Given the description of an element on the screen output the (x, y) to click on. 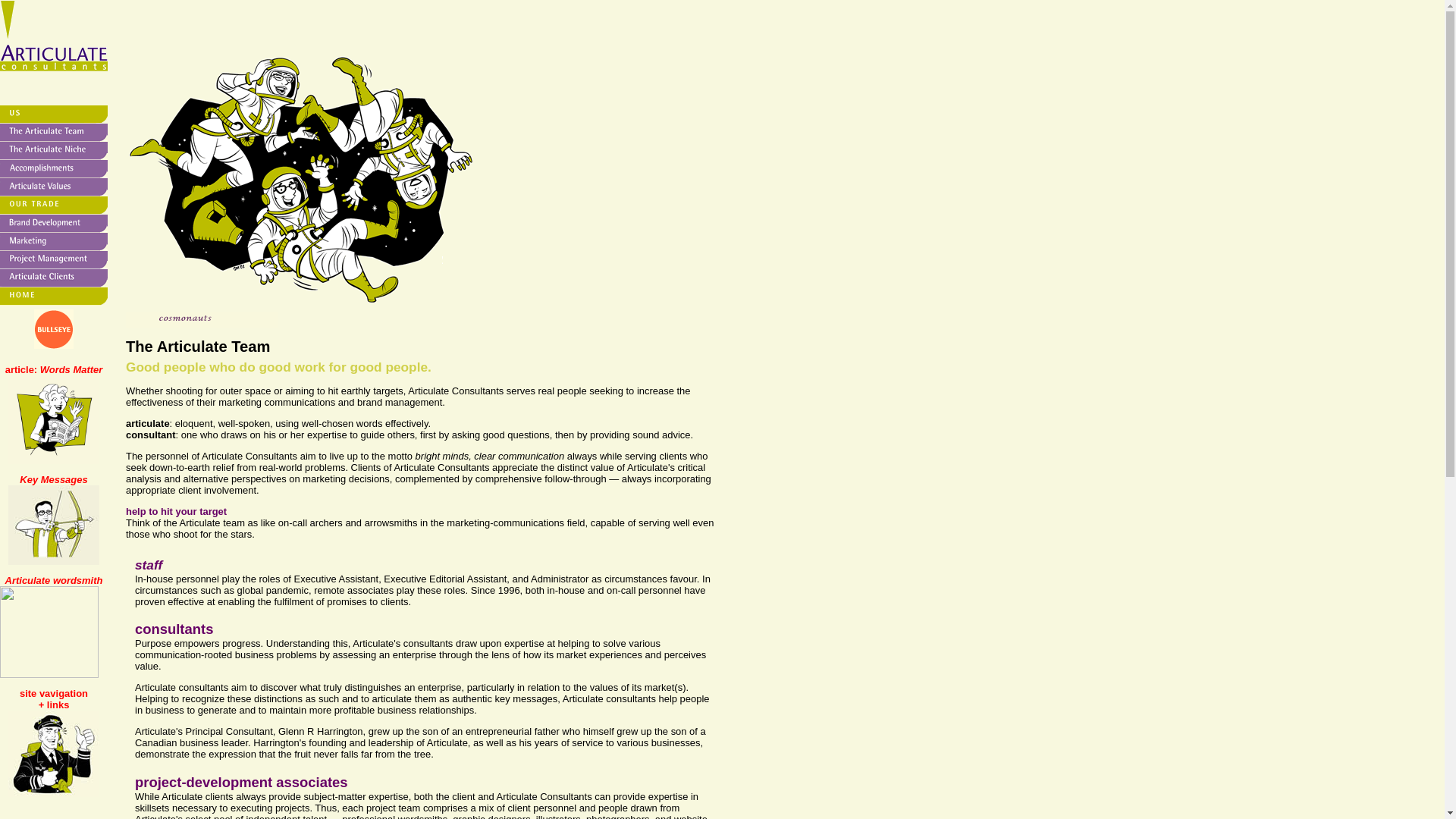
cosmonauts Element type: hover (201, 319)
cosmonauts Element type: hover (335, 179)
